Given the description of an element on the screen output the (x, y) to click on. 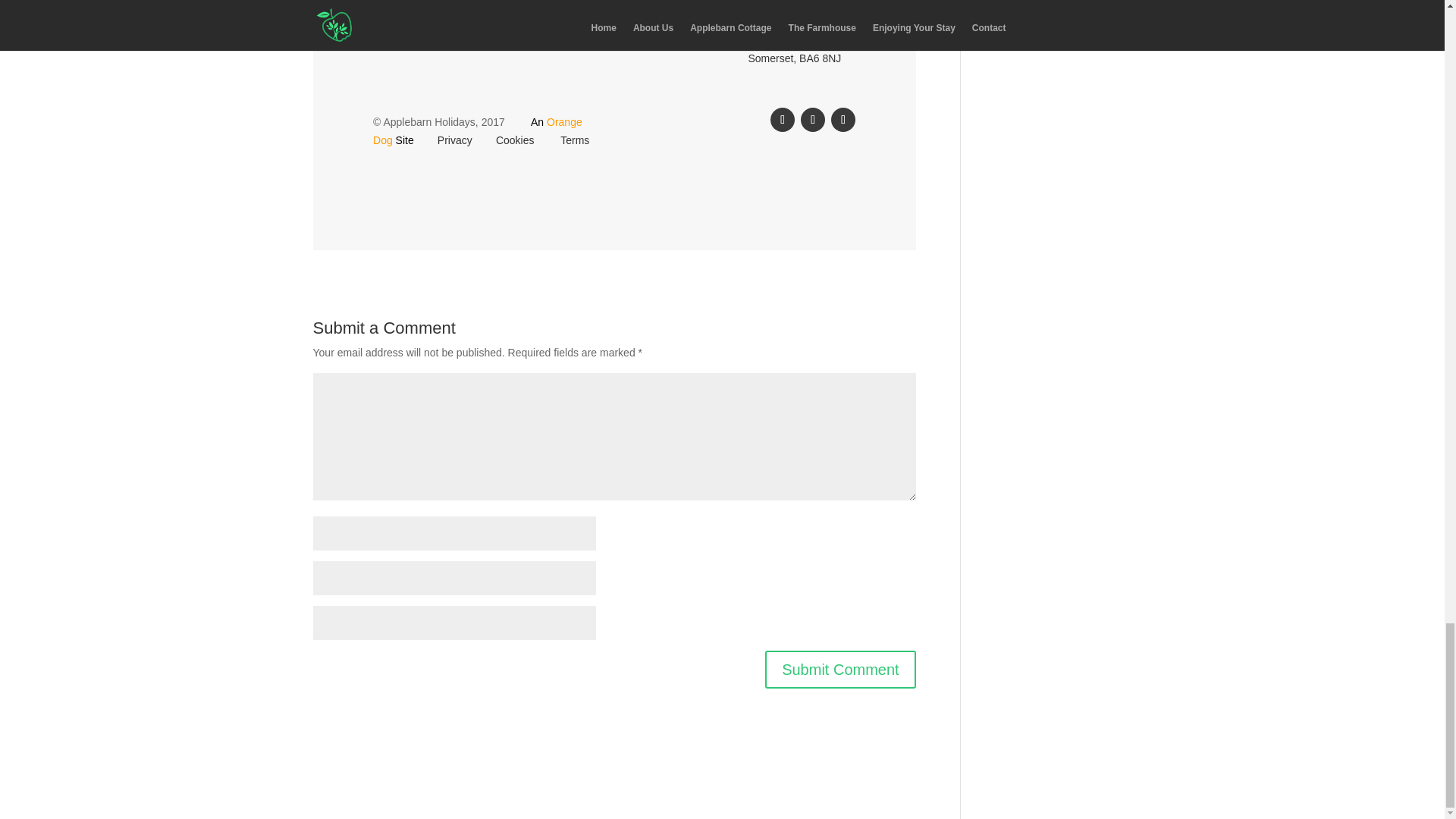
Follow on Facebook (782, 119)
Follow on X (812, 119)
Orange Dog (477, 131)
Submit Comment (840, 669)
Follow on Instagram (843, 119)
